Given the description of an element on the screen output the (x, y) to click on. 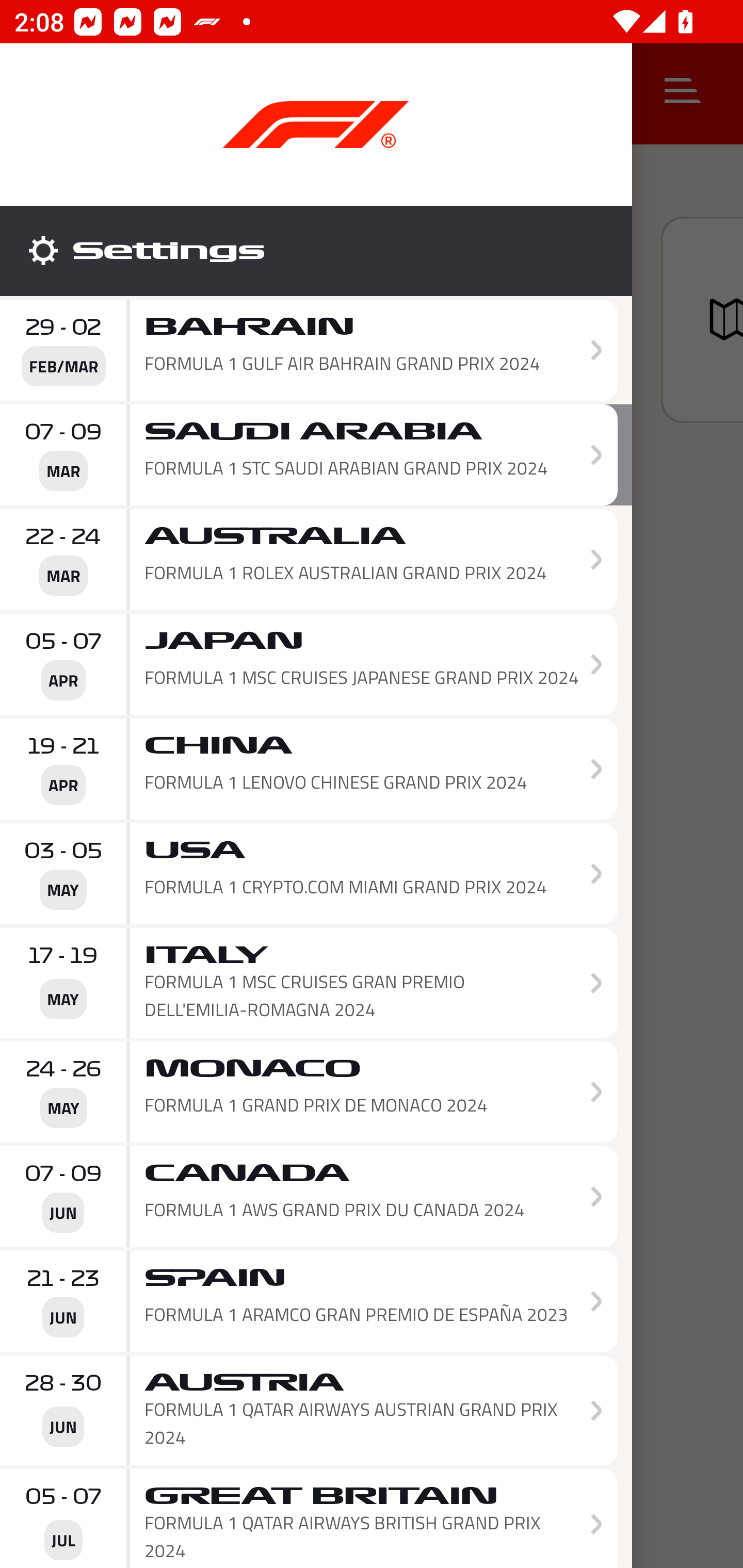
Settings (316, 250)
